Given the description of an element on the screen output the (x, y) to click on. 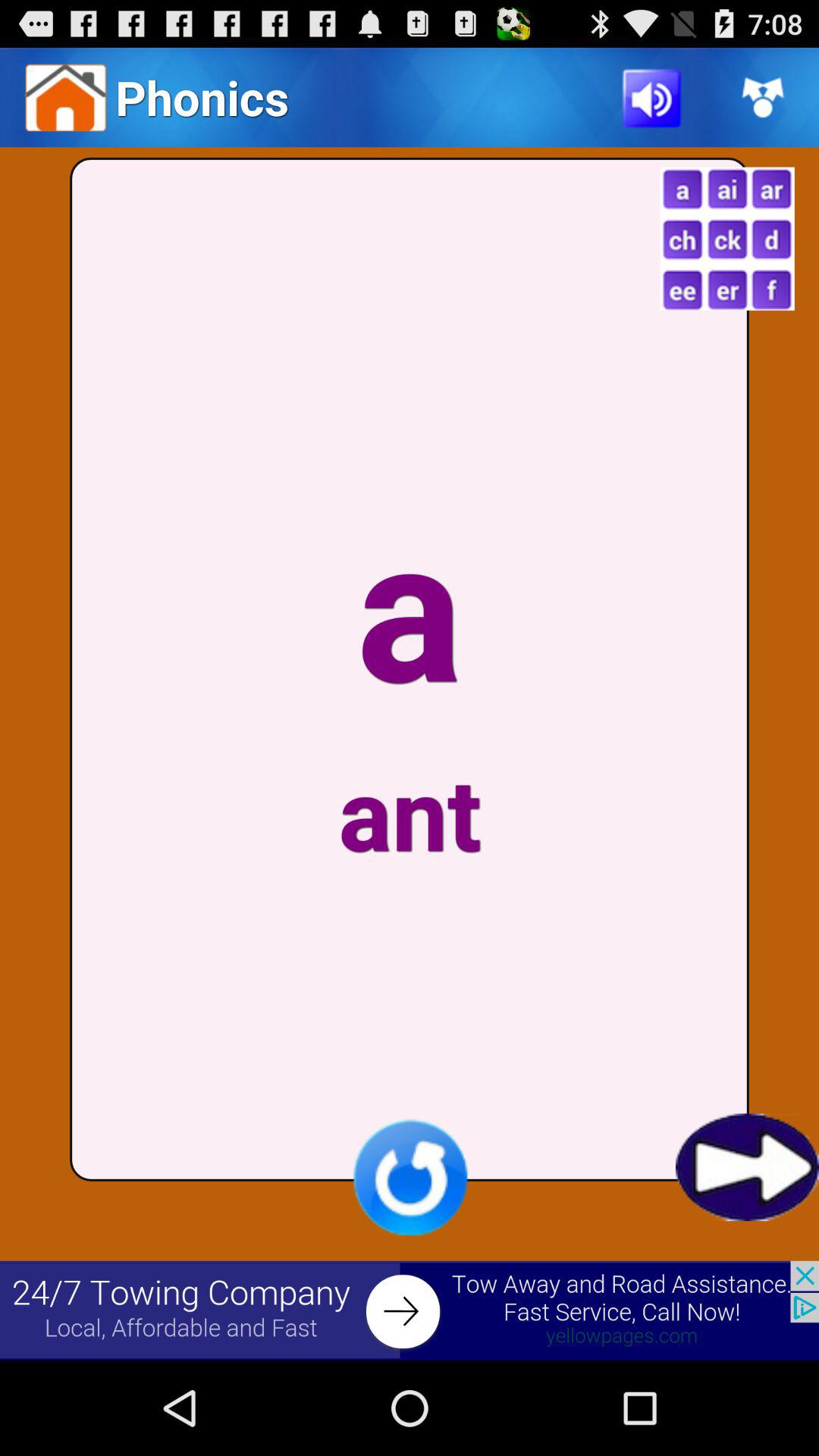
replay button (409, 1177)
